Given the description of an element on the screen output the (x, y) to click on. 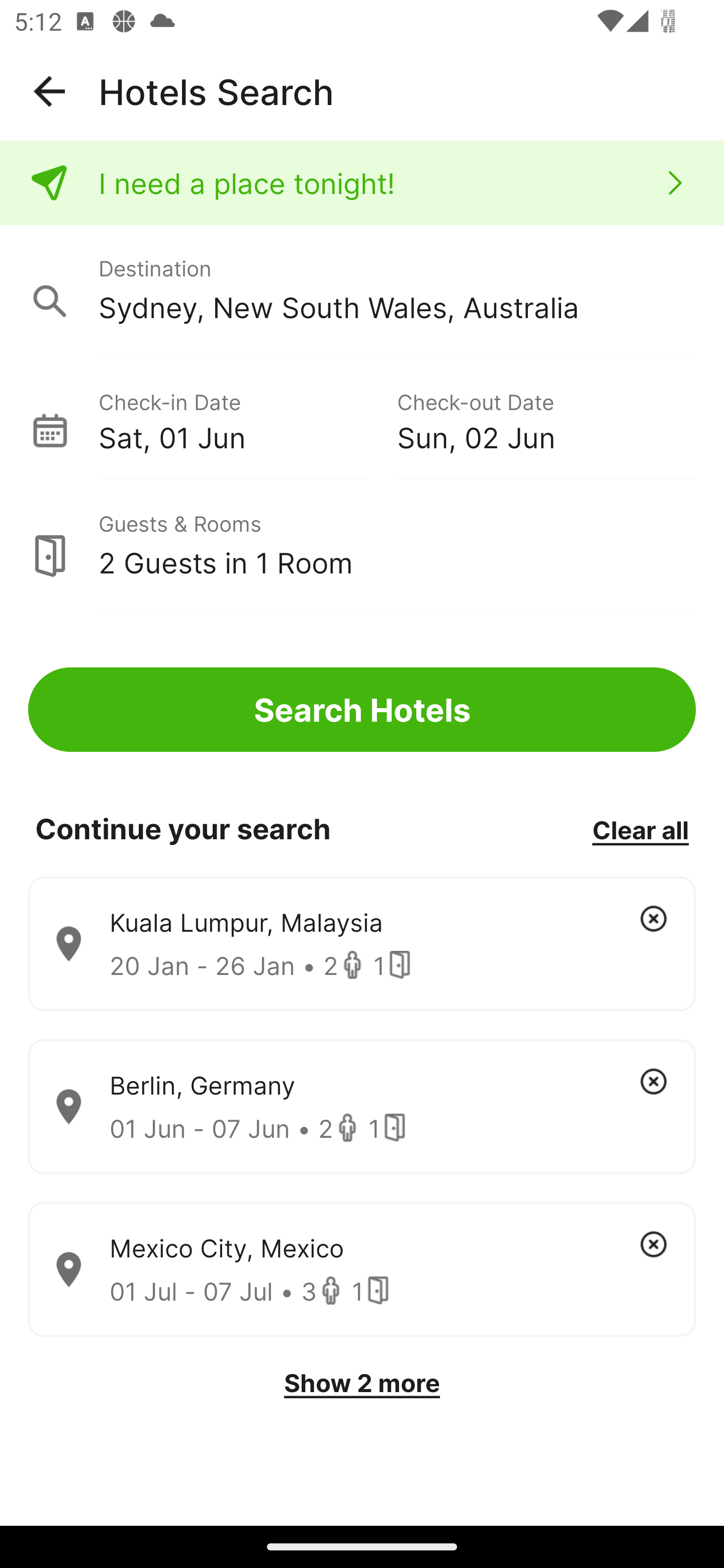
I need a place tonight! (362, 183)
Destination Sydney, New South Wales, Australia (362, 290)
Check-in Date Sat, 01 Jun (247, 418)
Check-out Date Sun, 02 Jun (546, 418)
Guests & Rooms 2 Guests in 1 Room (362, 545)
Search Hotels (361, 709)
Clear all (640, 829)
Kuala Lumpur, Malaysia 20 Jan - 26 Jan • 2  1  (361, 943)
Berlin, Germany 01 Jun - 07 Jun • 2  1  (361, 1106)
Mexico City, Mexico 01 Jul - 07 Jul • 3  1  (361, 1269)
Show 2 more (362, 1382)
